Given the description of an element on the screen output the (x, y) to click on. 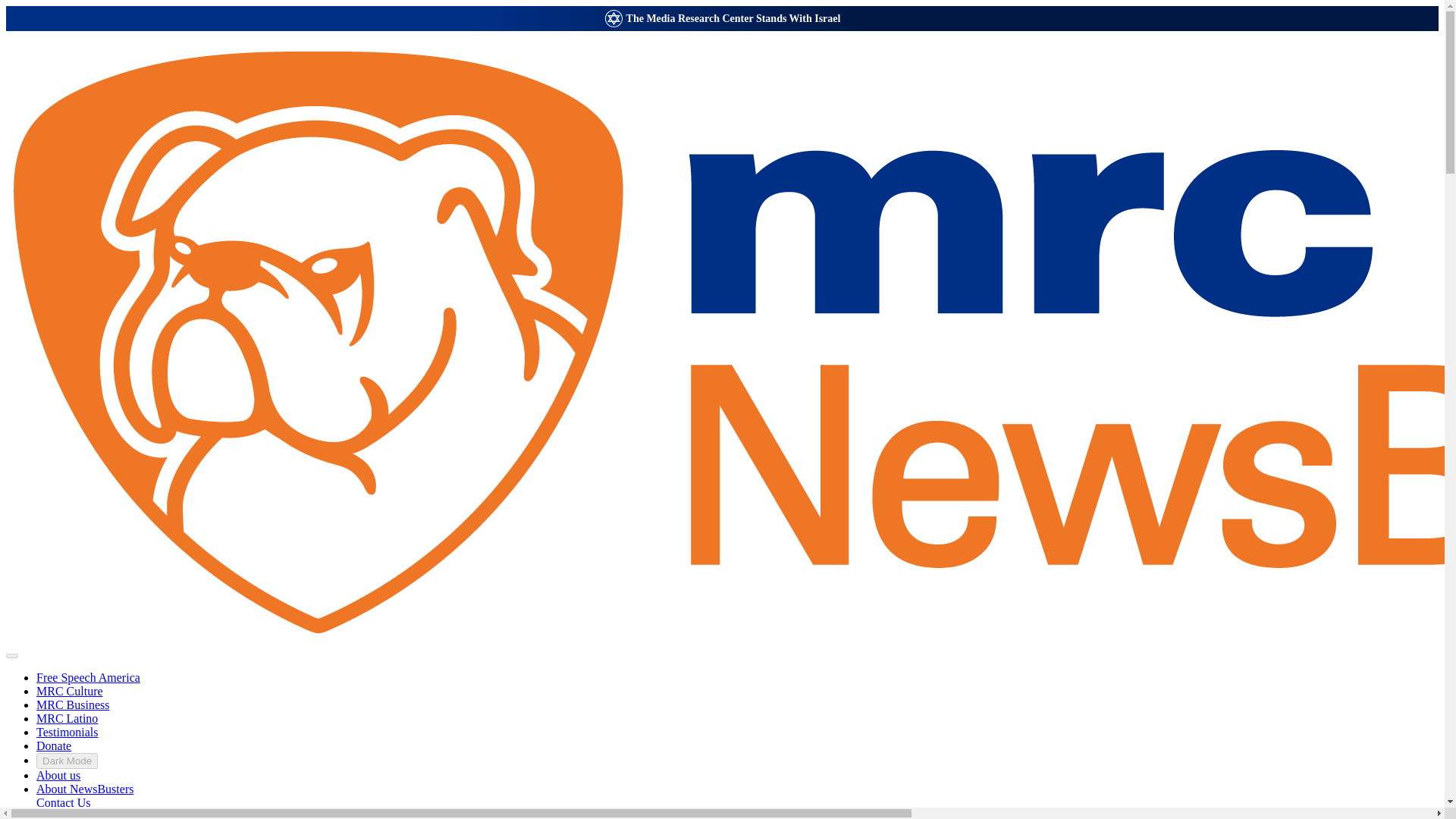
Dark Mode (66, 760)
